Given the description of an element on the screen output the (x, y) to click on. 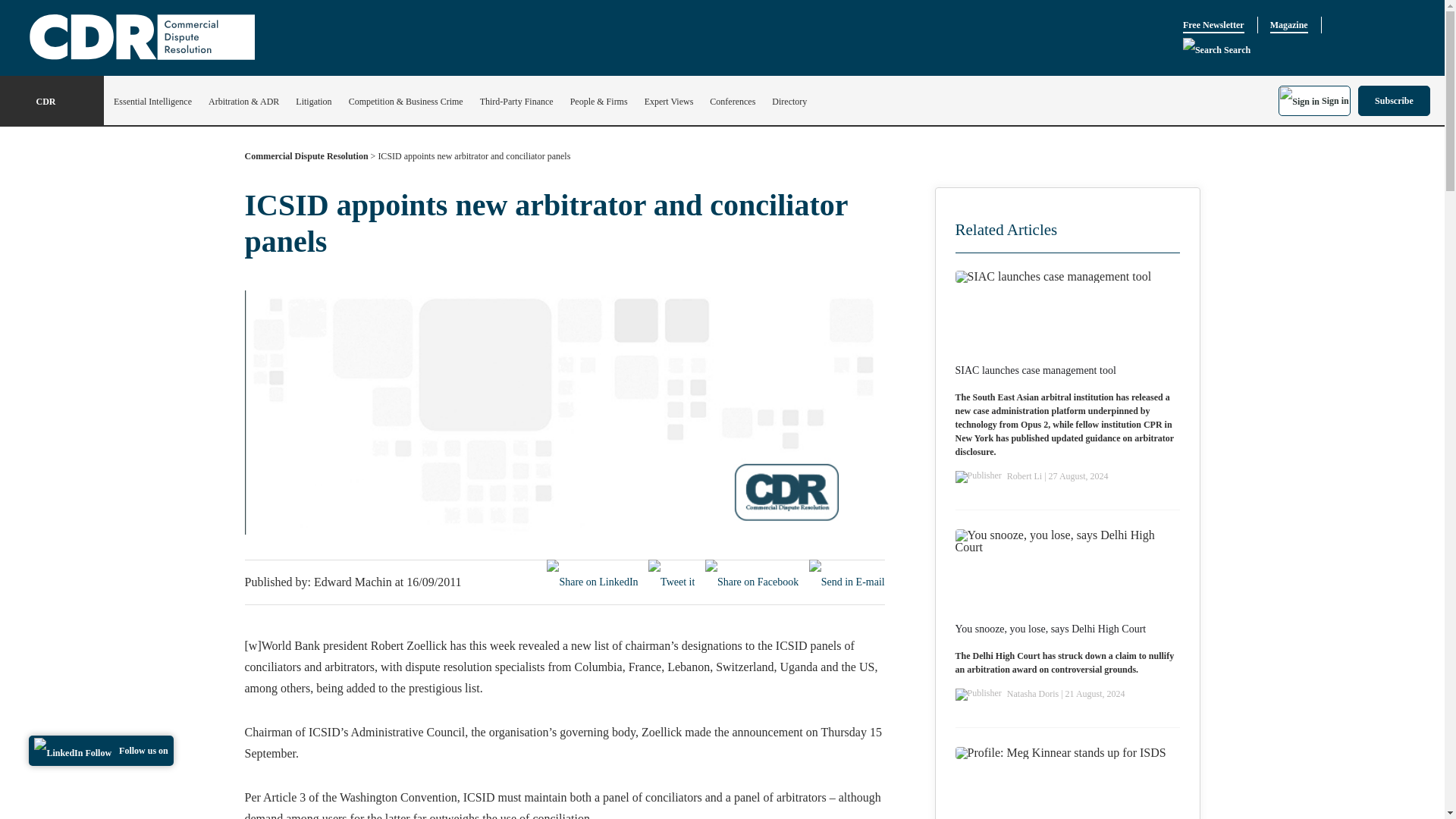
Subscribe (1393, 100)
Expert Views (669, 101)
SIAC launches case management tool (1035, 370)
Search (1216, 50)
Commercial Dispute Resolution (306, 159)
Third-Party Finance (516, 101)
Magazine (1288, 25)
Essential Intelligence (152, 101)
Free Newsletter (1213, 25)
Conferences (732, 101)
